Given the description of an element on the screen output the (x, y) to click on. 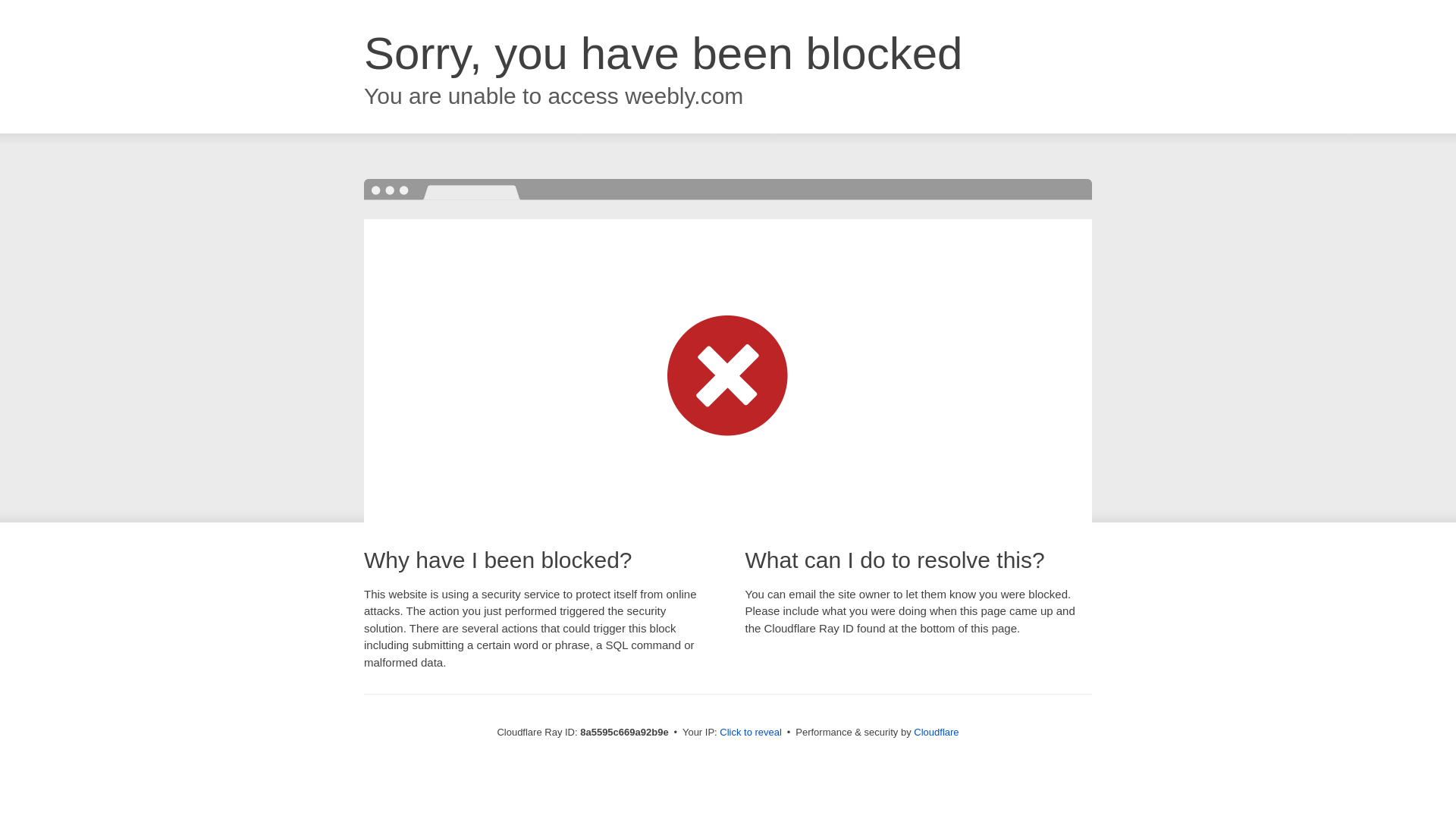
Click to reveal (750, 732)
Cloudflare (936, 731)
